Given the description of an element on the screen output the (x, y) to click on. 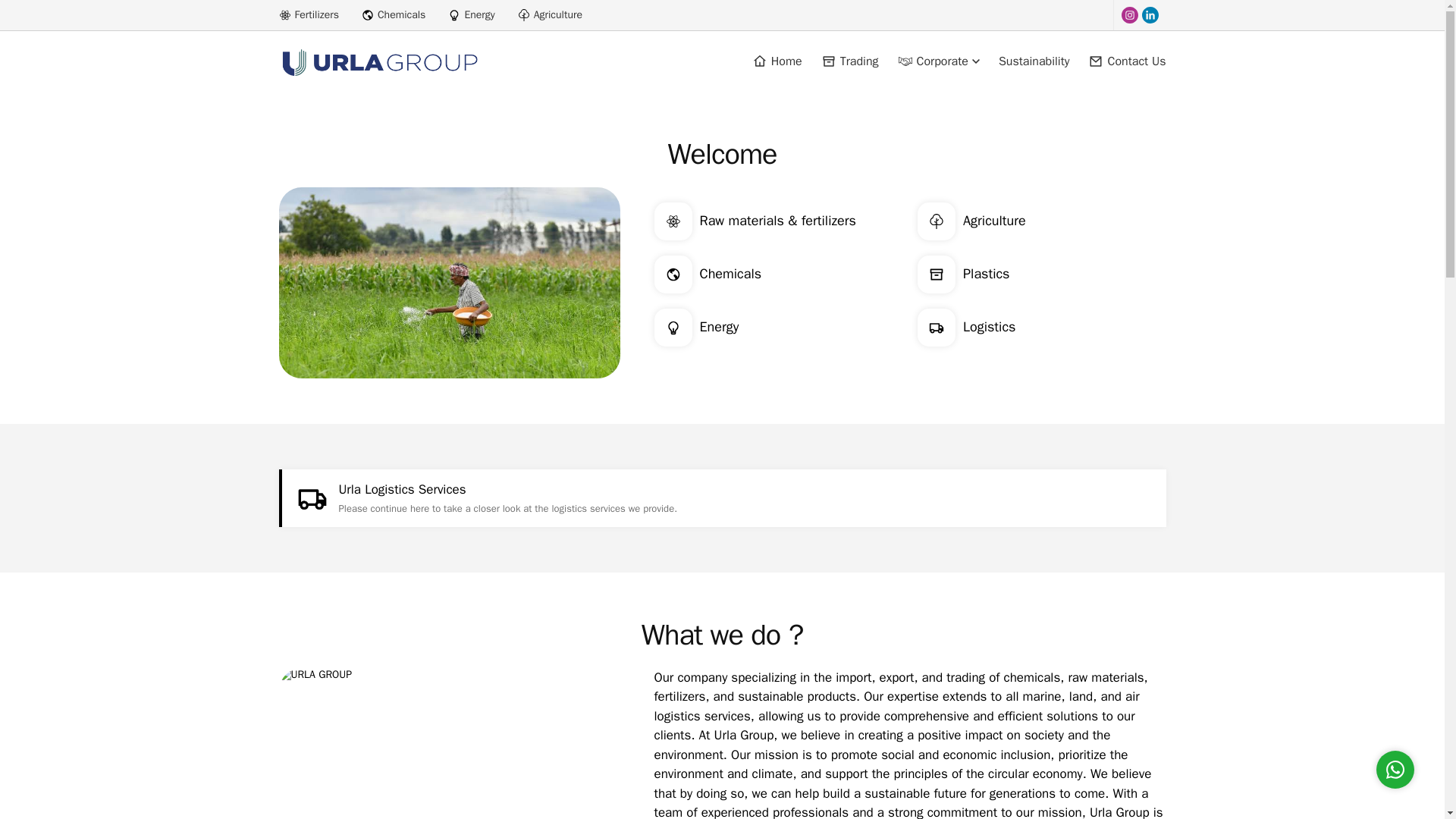
Sustainability (1034, 61)
Agriculture (1041, 221)
Logistics (1041, 327)
Energy (777, 327)
Corporate (938, 61)
Contact Us (1126, 61)
Chemicals (777, 274)
Plastics (1041, 274)
Trading (850, 61)
